Given the description of an element on the screen output the (x, y) to click on. 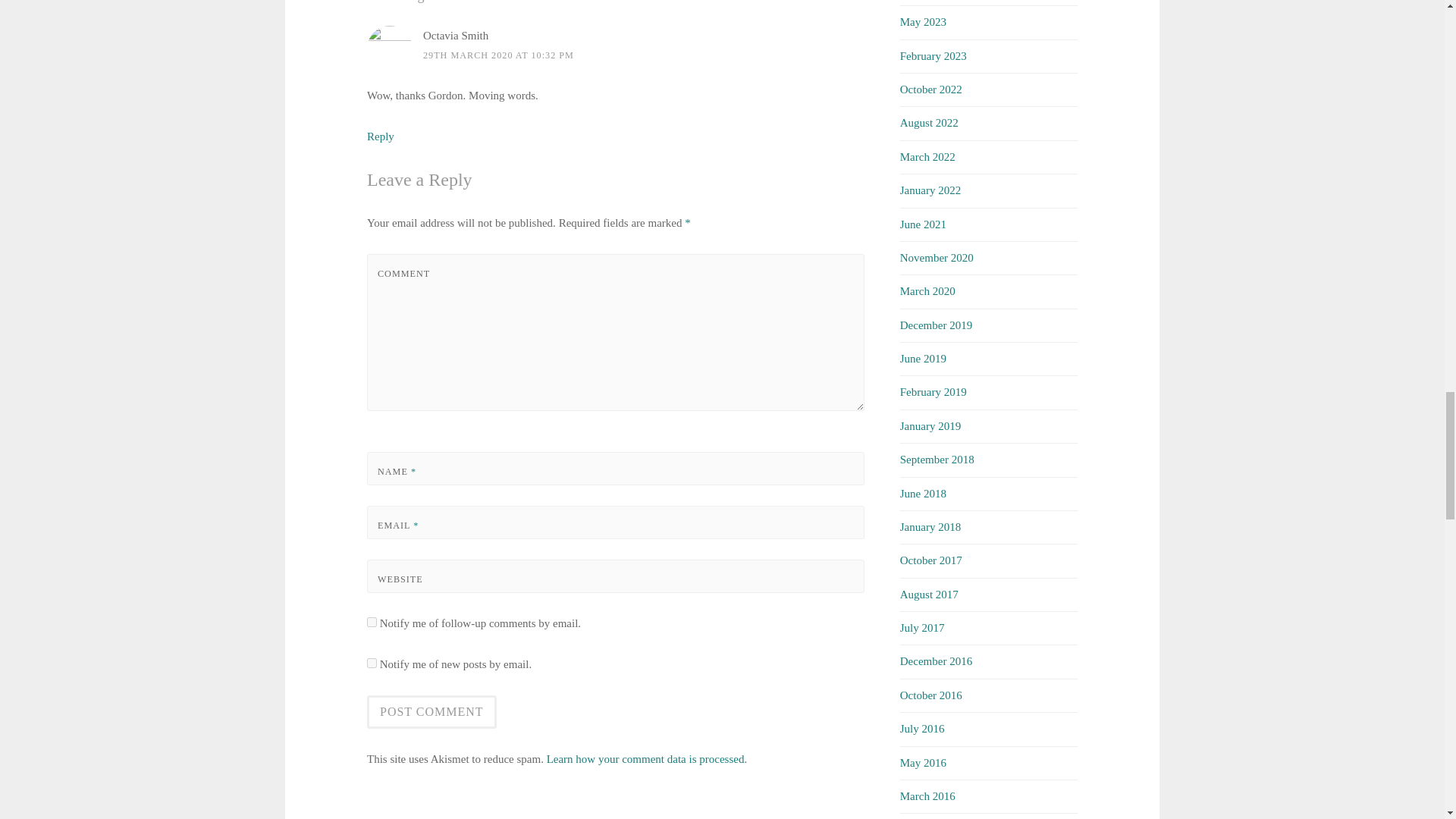
29TH MARCH 2020 AT 10:32 PM (498, 54)
Learn how your comment data is processed (645, 758)
Post Comment (431, 711)
subscribe (371, 622)
subscribe (371, 663)
Reply (380, 136)
Post Comment (431, 711)
